Given the description of an element on the screen output the (x, y) to click on. 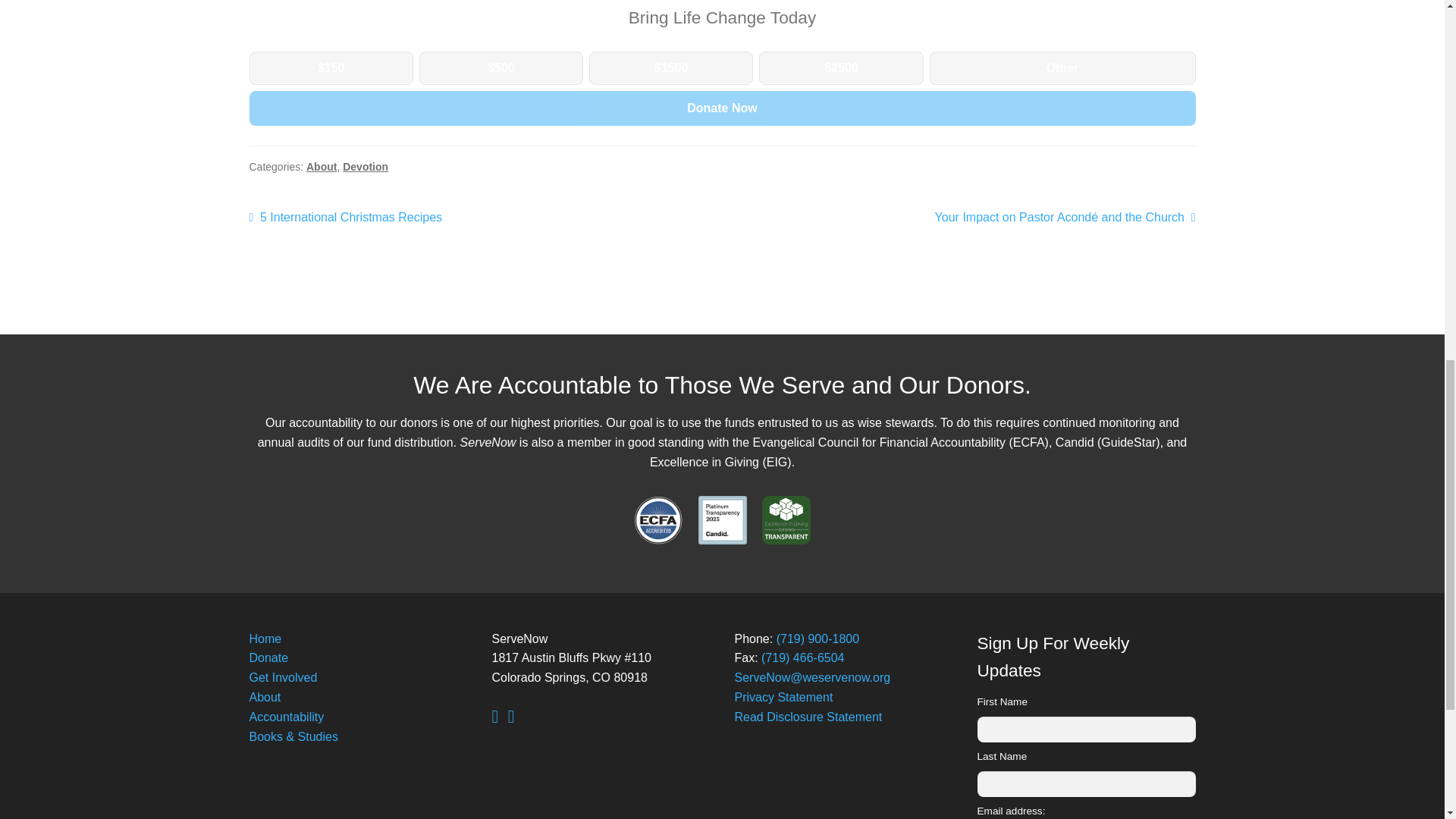
Donate Now (721, 108)
Accountability (345, 217)
Donate (285, 716)
Devotion (268, 657)
About (365, 166)
Home (320, 166)
About (264, 638)
Get Involved (264, 697)
Other (282, 676)
